Given the description of an element on the screen output the (x, y) to click on. 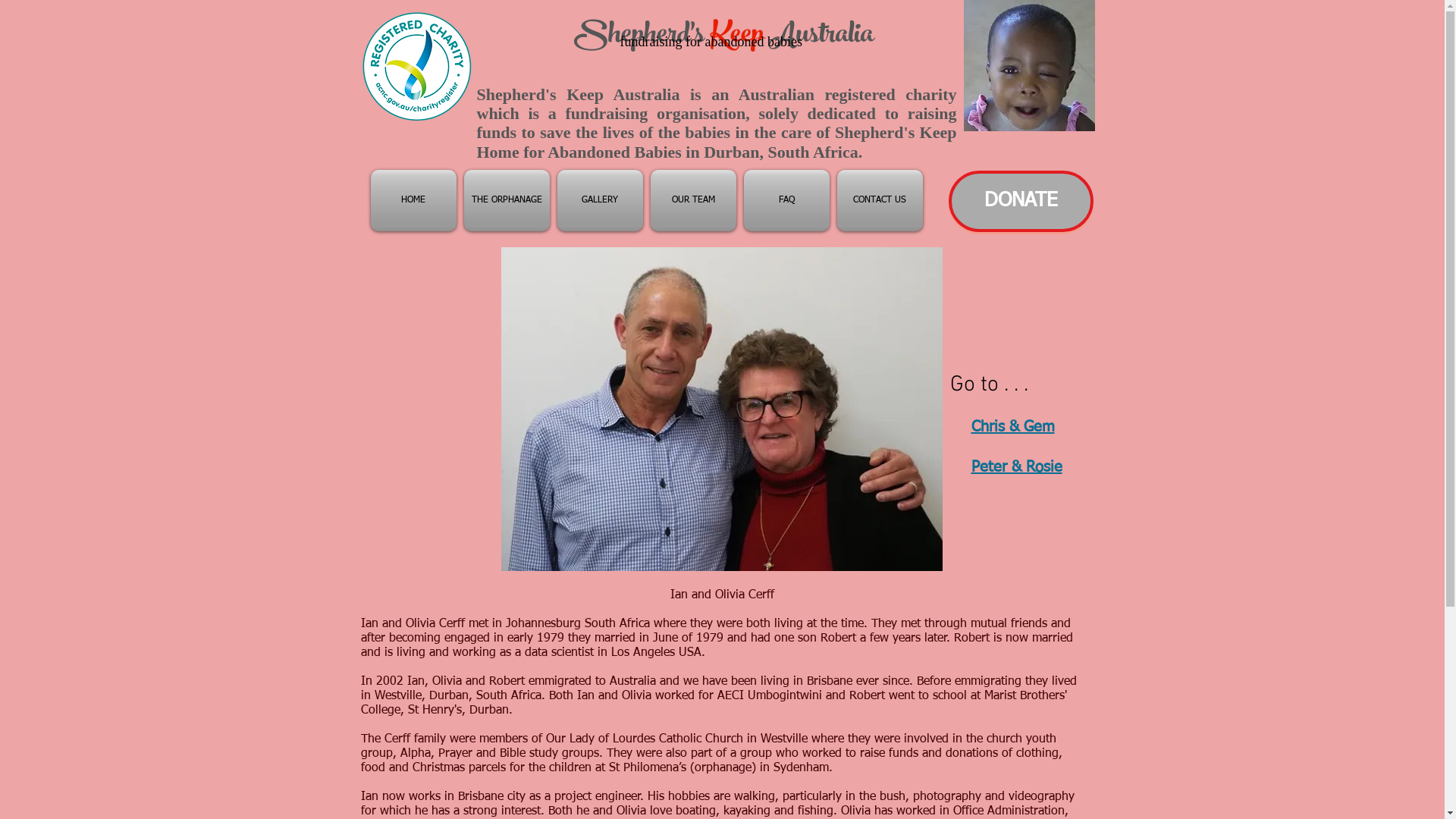
DONATE Element type: text (1019, 201)
FAQ Element type: text (786, 200)
THE ORPHANAGE Element type: text (505, 200)
CONTACT US Element type: text (878, 200)
HOME Element type: text (413, 200)
fundraising for abandoned babies Element type: text (711, 41)
Chris & Gem Element type: text (1012, 426)
Shepherd's Keep Australia Element type: text (722, 37)
GALLERY Element type: text (599, 200)
Peter & Rosie Element type: text (1015, 466)
OUR TEAM Element type: text (692, 200)
